Given the description of an element on the screen output the (x, y) to click on. 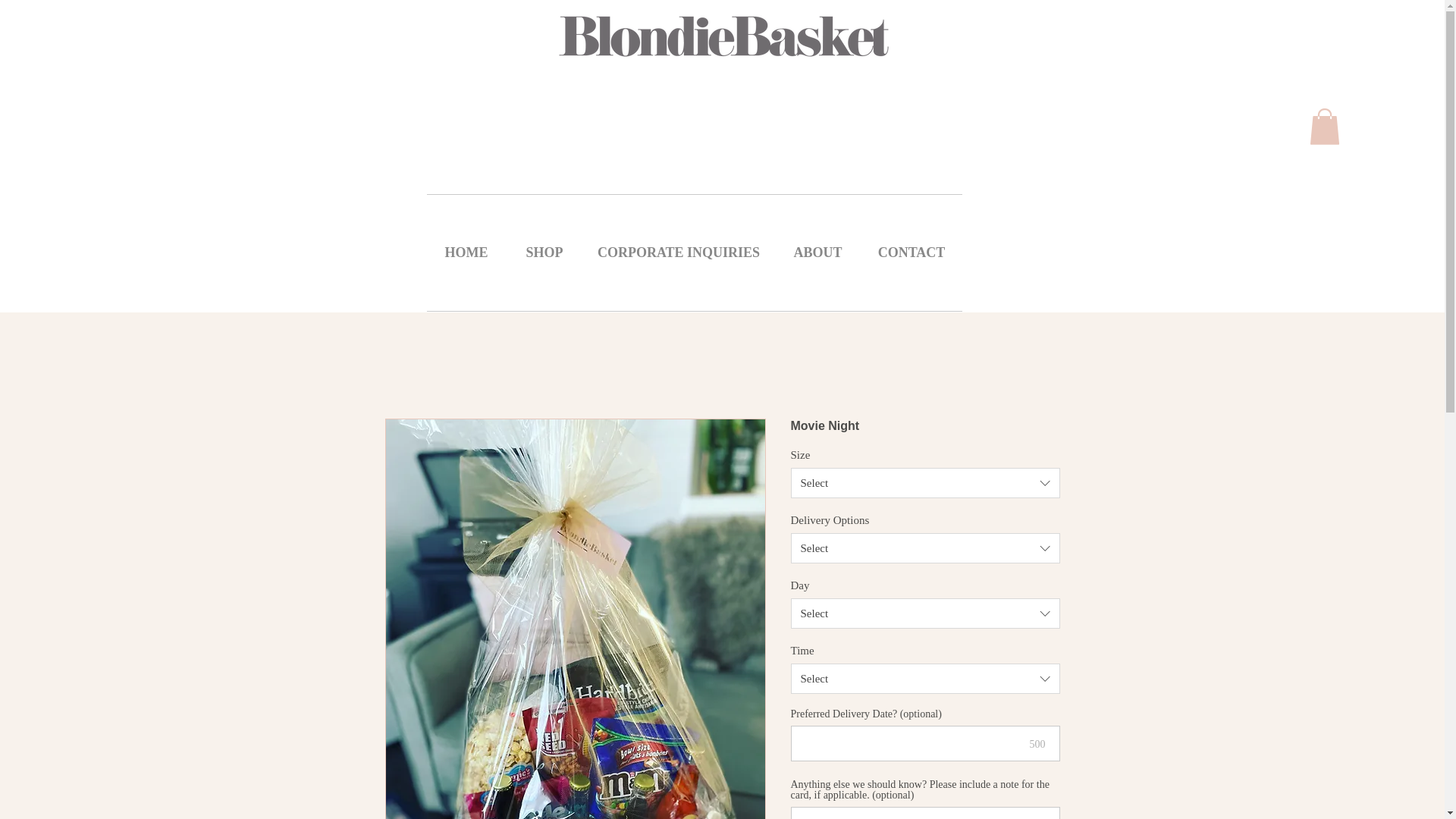
Select (924, 548)
CORPORATE INQUIRIES (678, 252)
Select (924, 613)
Select (924, 482)
Select (924, 678)
